Given the description of an element on the screen output the (x, y) to click on. 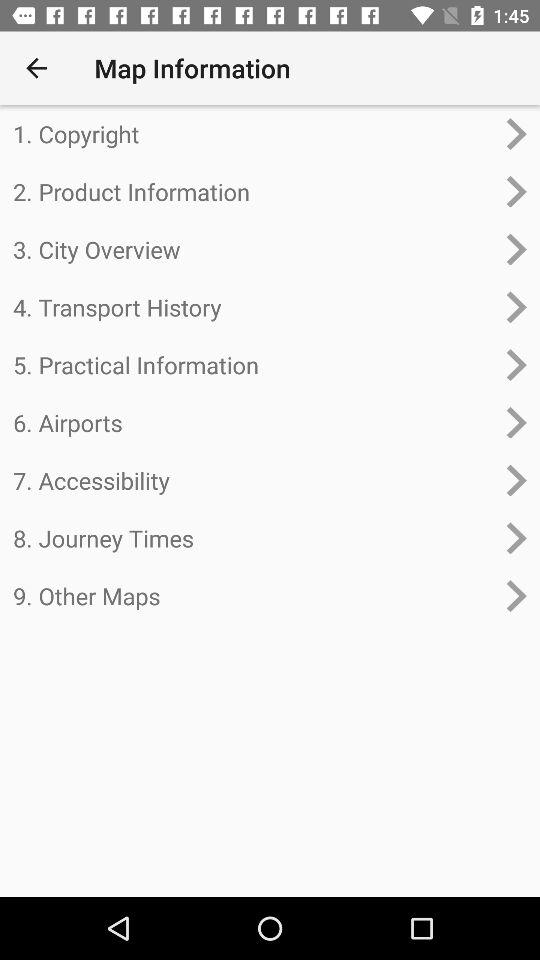
swipe until 9. other maps item (253, 595)
